Given the description of an element on the screen output the (x, y) to click on. 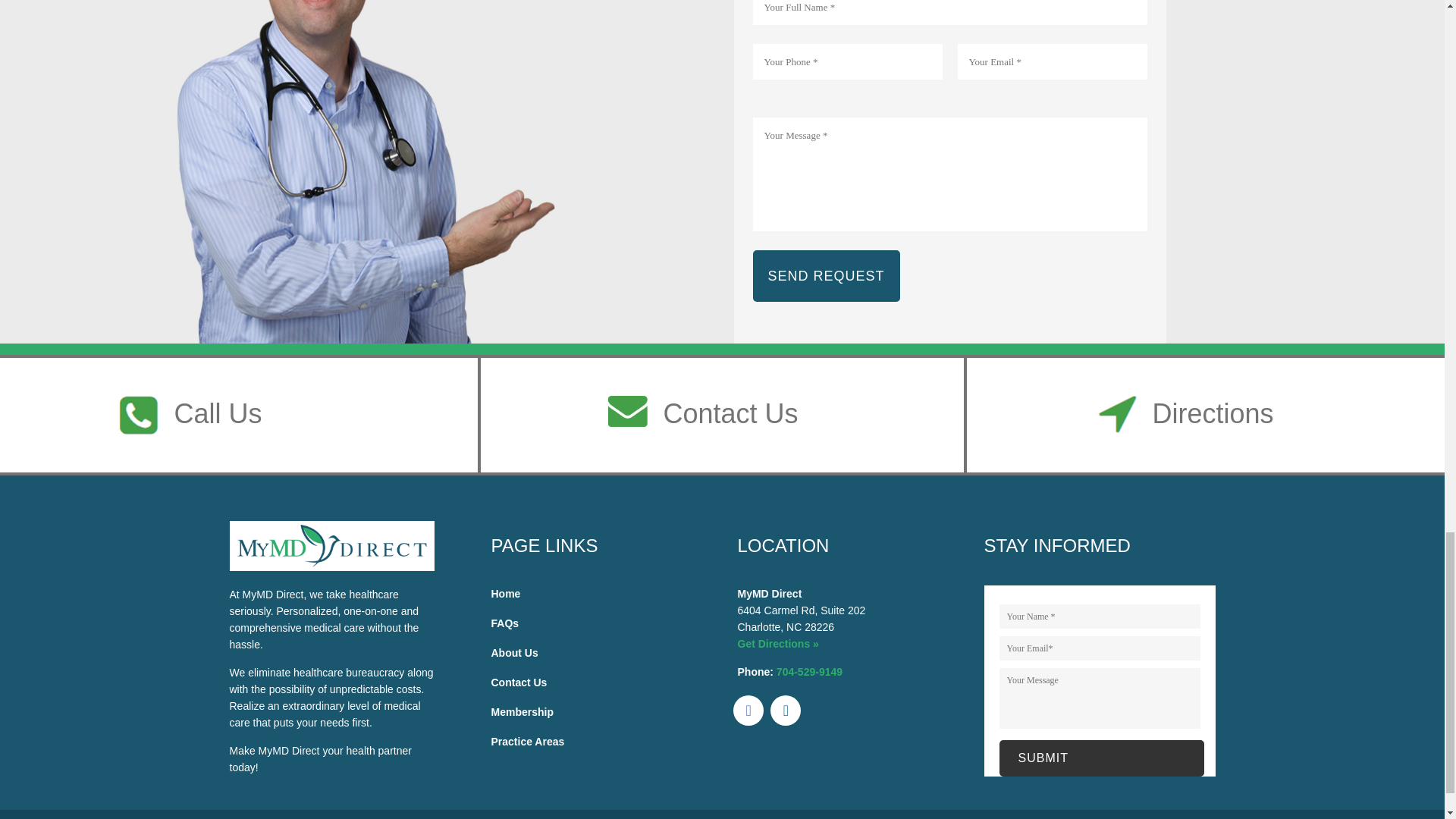
Submit (1101, 758)
SEND REQUEST (825, 276)
Call Us (217, 413)
Click to Call (809, 671)
Contact Us (729, 413)
SEND REQUEST (825, 276)
